Given the description of an element on the screen output the (x, y) to click on. 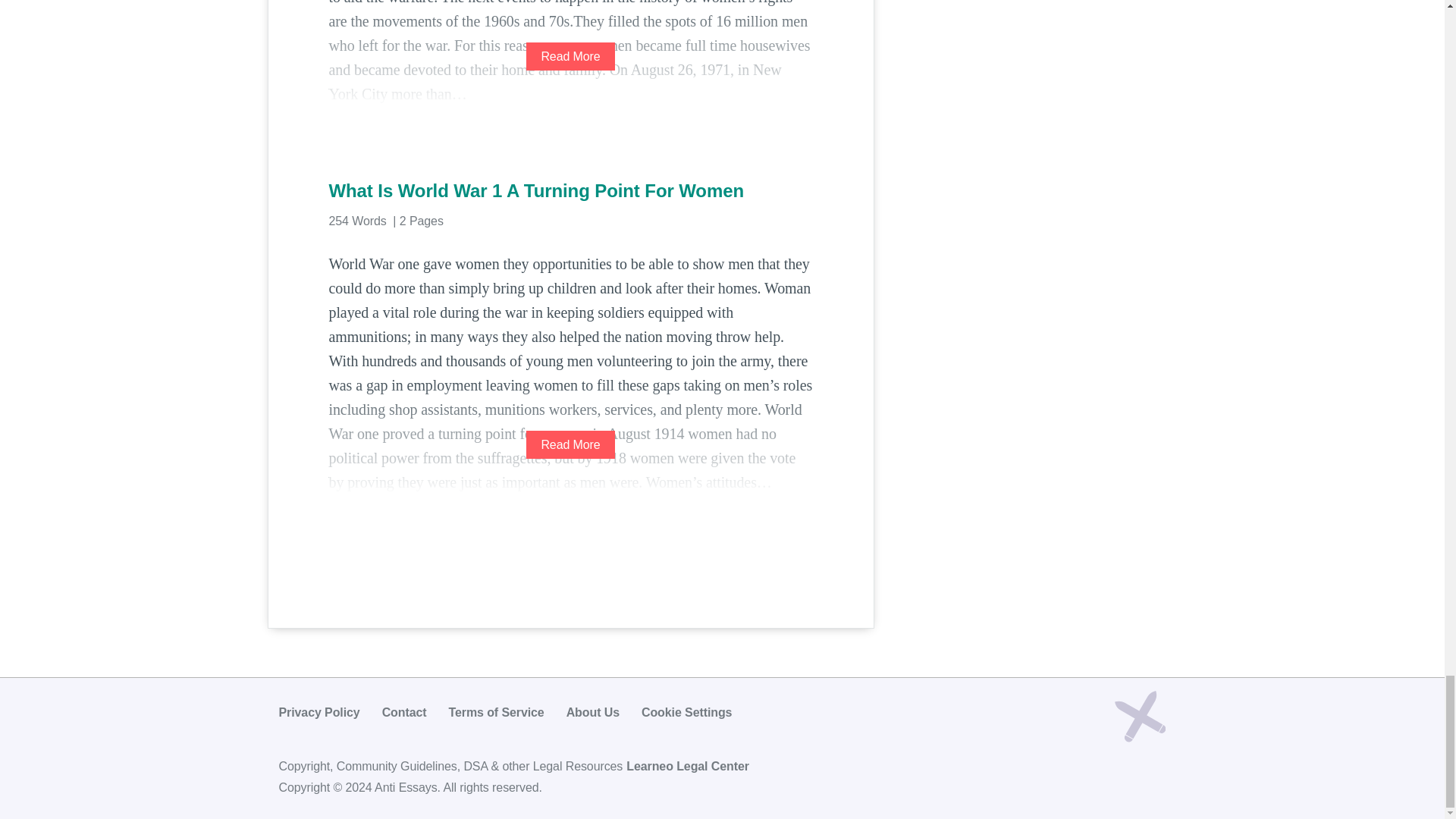
Read More (569, 444)
What Is World War 1 A Turning Point For Women (570, 191)
Contact (403, 712)
Read More (569, 56)
Privacy Policy (319, 712)
